Given the description of an element on the screen output the (x, y) to click on. 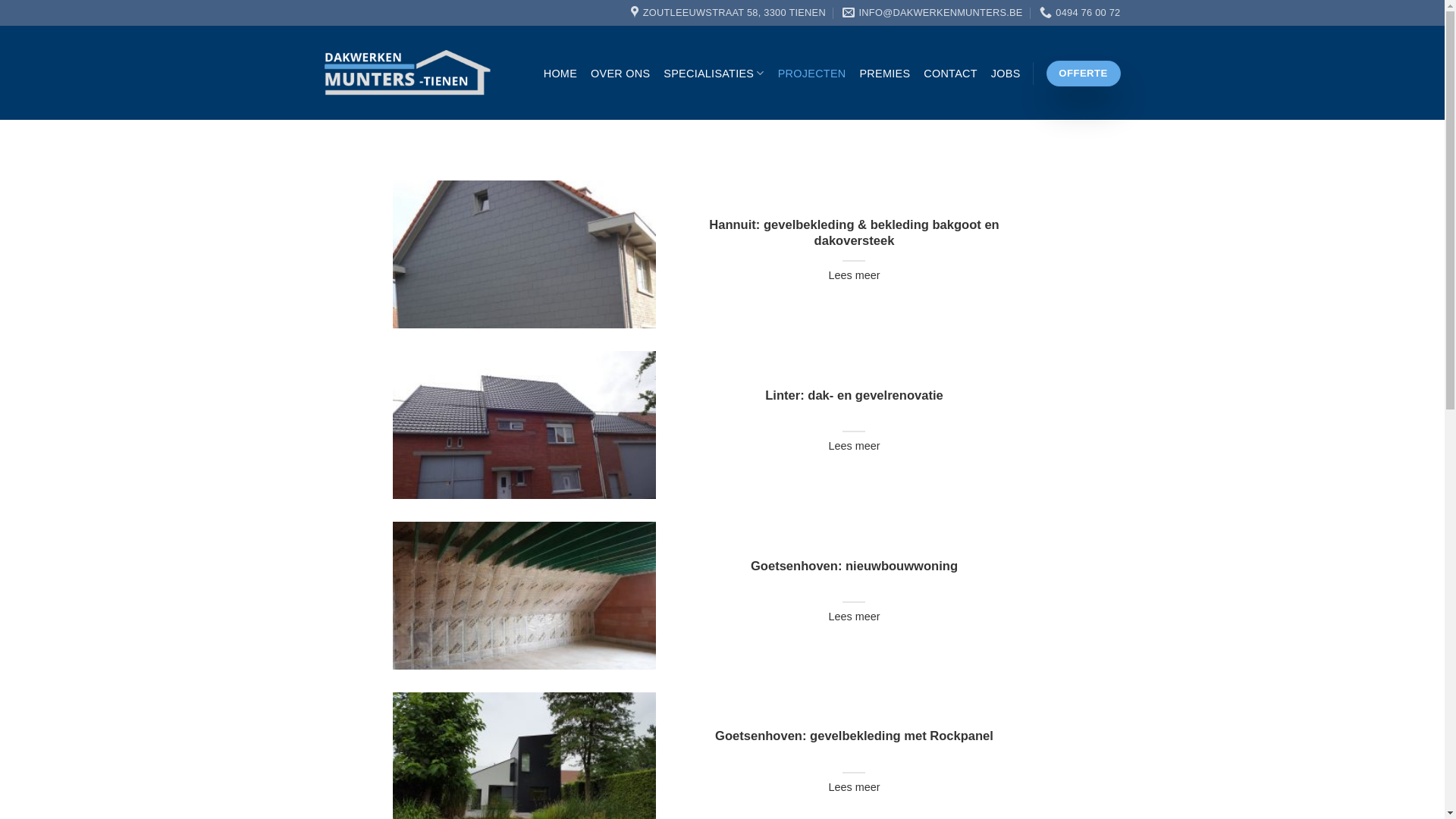
HOME Element type: text (560, 73)
Dakwerken Munters - Dakwerken regio Tienen & omstreken Element type: hover (408, 72)
INFO@DAKWERKENMUNTERS.BE Element type: text (932, 12)
JOBS Element type: text (1005, 73)
OFFERTE Element type: text (1083, 73)
PREMIES Element type: text (884, 73)
CONTACT Element type: text (950, 73)
OVER ONS Element type: text (619, 73)
SPECIALISATIES Element type: text (713, 72)
ZOUTLEEUWSTRAAT 58, 3300 TIENEN Element type: text (727, 12)
Skip to content Element type: text (0, 0)
Linter: dak- en gevelrenovatie
Lees meer Element type: text (722, 424)
0494 76 00 72 Element type: text (1079, 12)
Goetsenhoven: nieuwbouwwoning
Lees meer Element type: text (722, 595)
PROJECTEN Element type: text (812, 73)
